Given the description of an element on the screen output the (x, y) to click on. 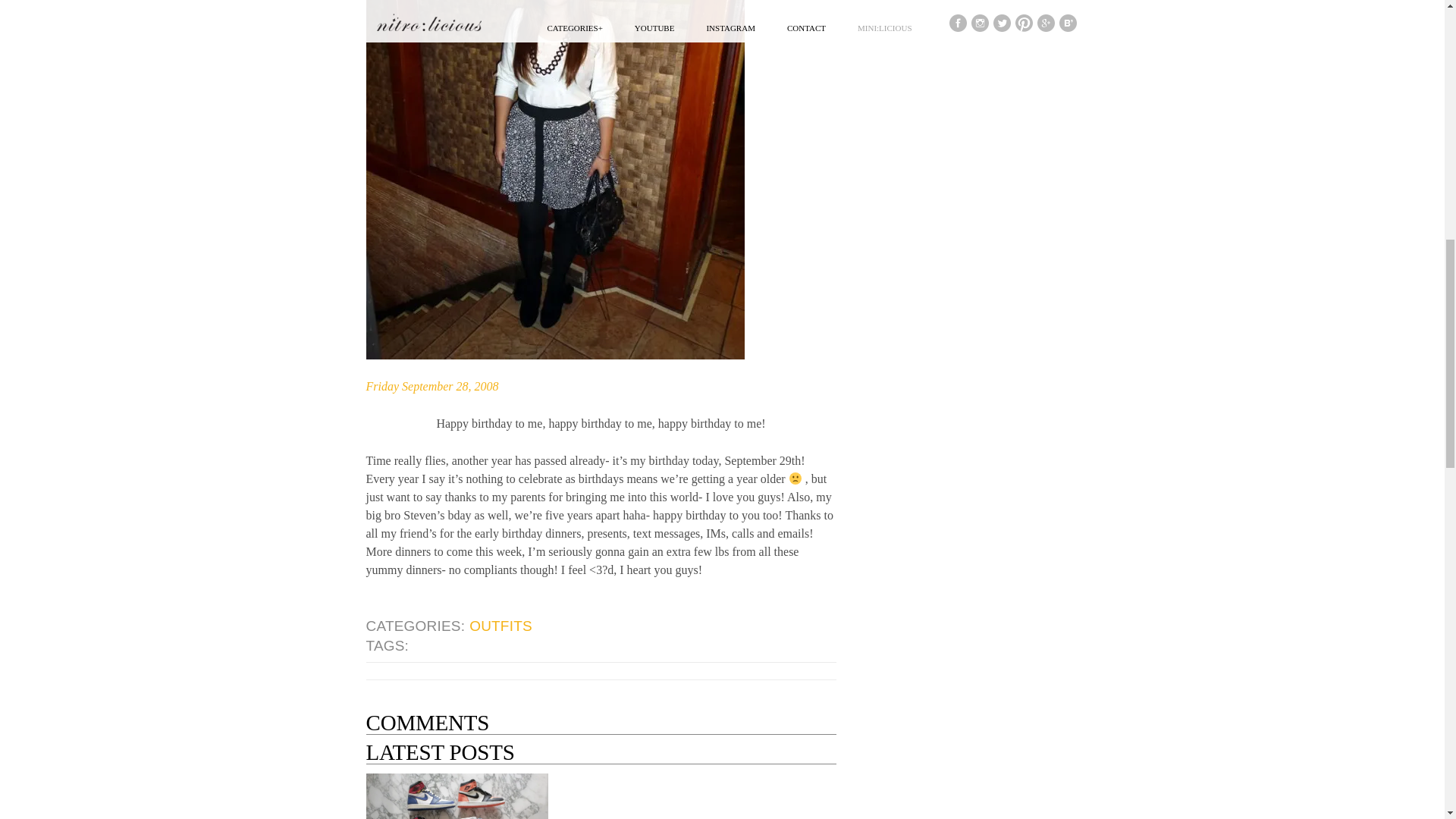
OUTFITS (501, 625)
Friday September 28, 2008 (431, 386)
